Given the description of an element on the screen output the (x, y) to click on. 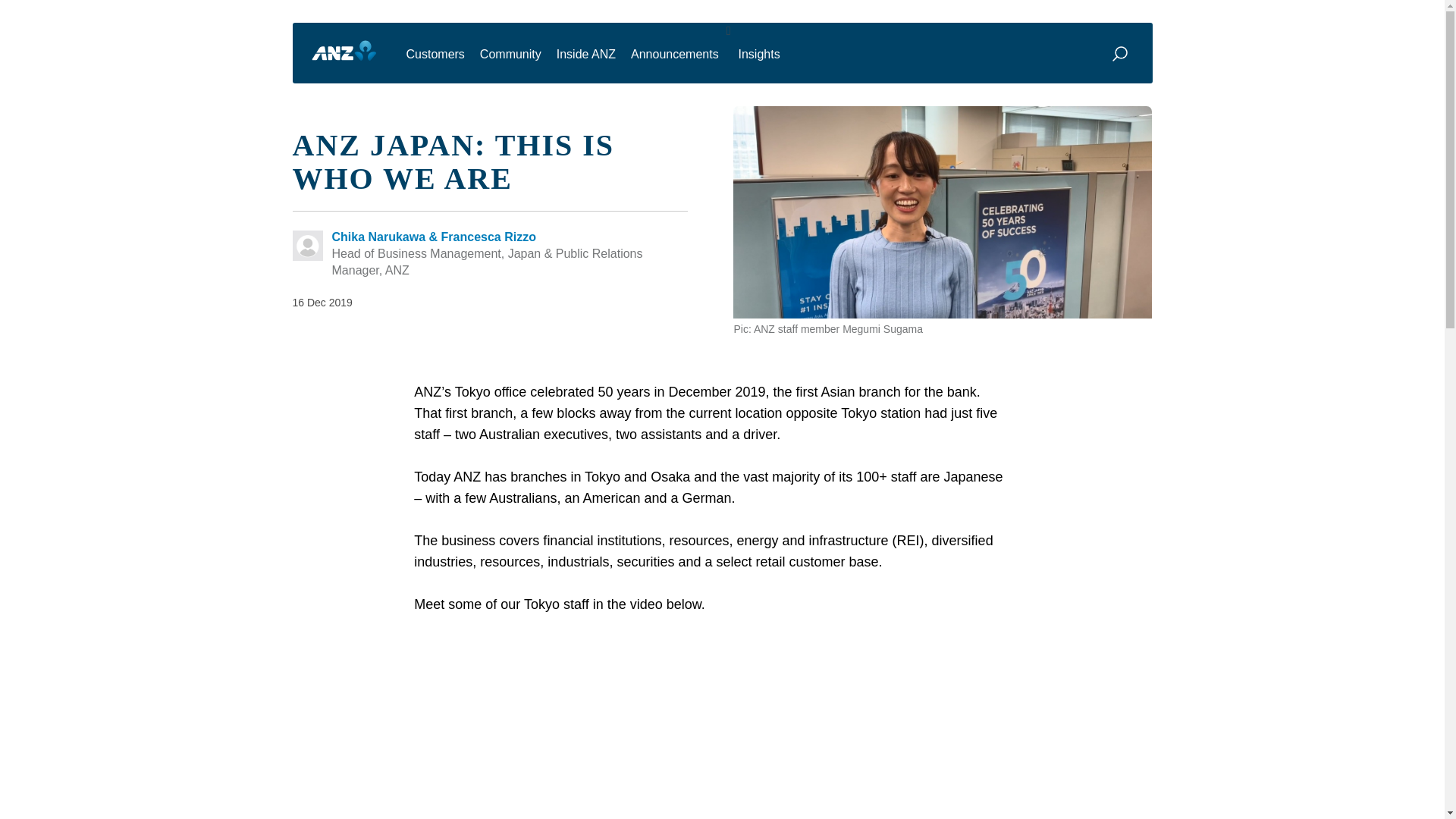
Insights (758, 59)
Customers (434, 59)
Read news about ANZ Homepage (344, 50)
ANZ Logo (344, 50)
Inside ANZ (585, 59)
Announcements (674, 59)
Community (509, 59)
